Given the description of an element on the screen output the (x, y) to click on. 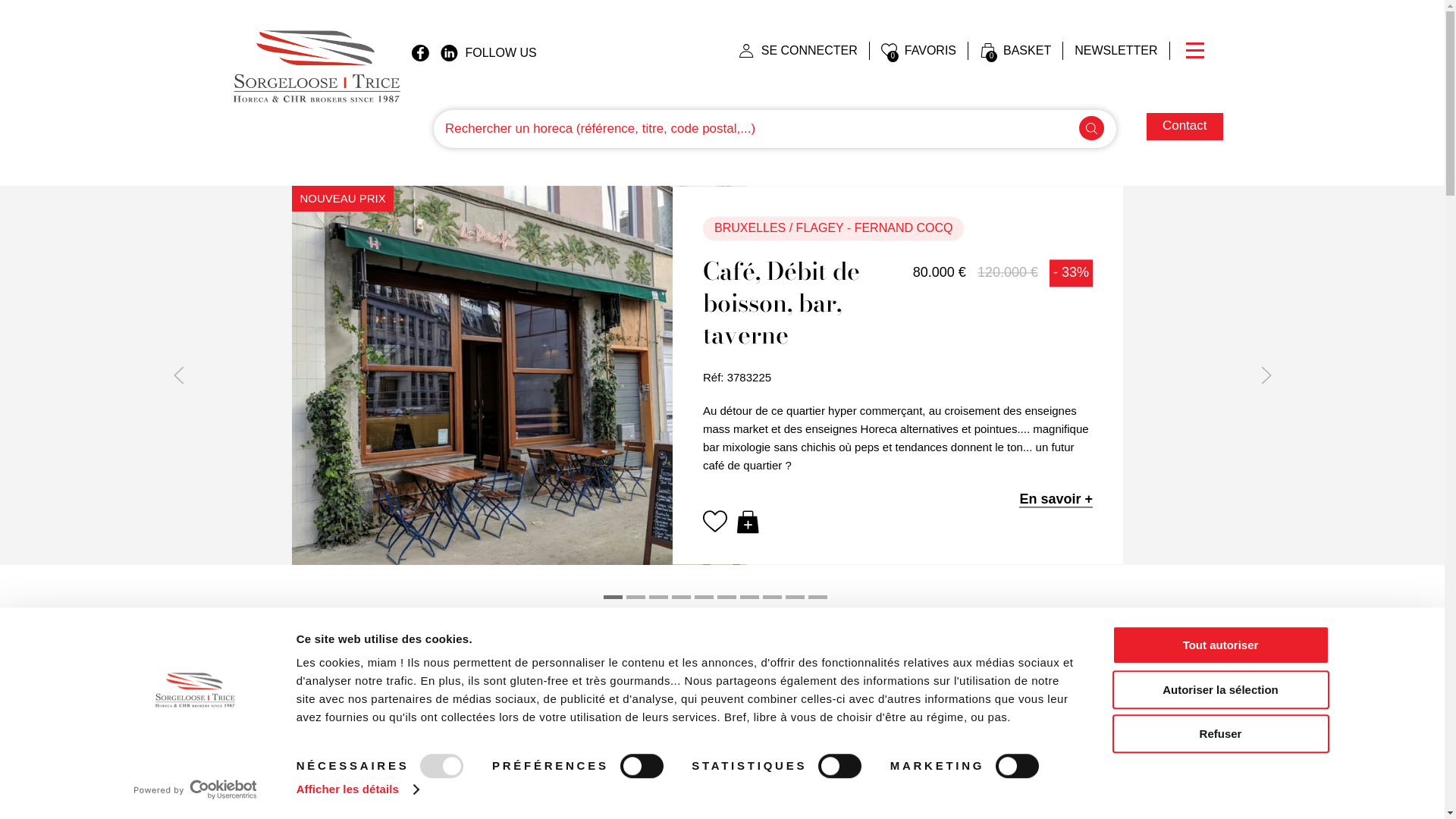
Refuser Element type: text (1219, 733)
FAVORIS
0 Element type: text (918, 50)
Contact Element type: text (1184, 126)
BASKET
0 Element type: text (1015, 50)
SE CONNECTER Element type: text (798, 50)
Tout autoriser Element type: text (1219, 644)
NEWSLETTER Element type: text (1116, 50)
FOLLOW US Element type: text (488, 52)
En savoir + Element type: text (1055, 500)
